Given the description of an element on the screen output the (x, y) to click on. 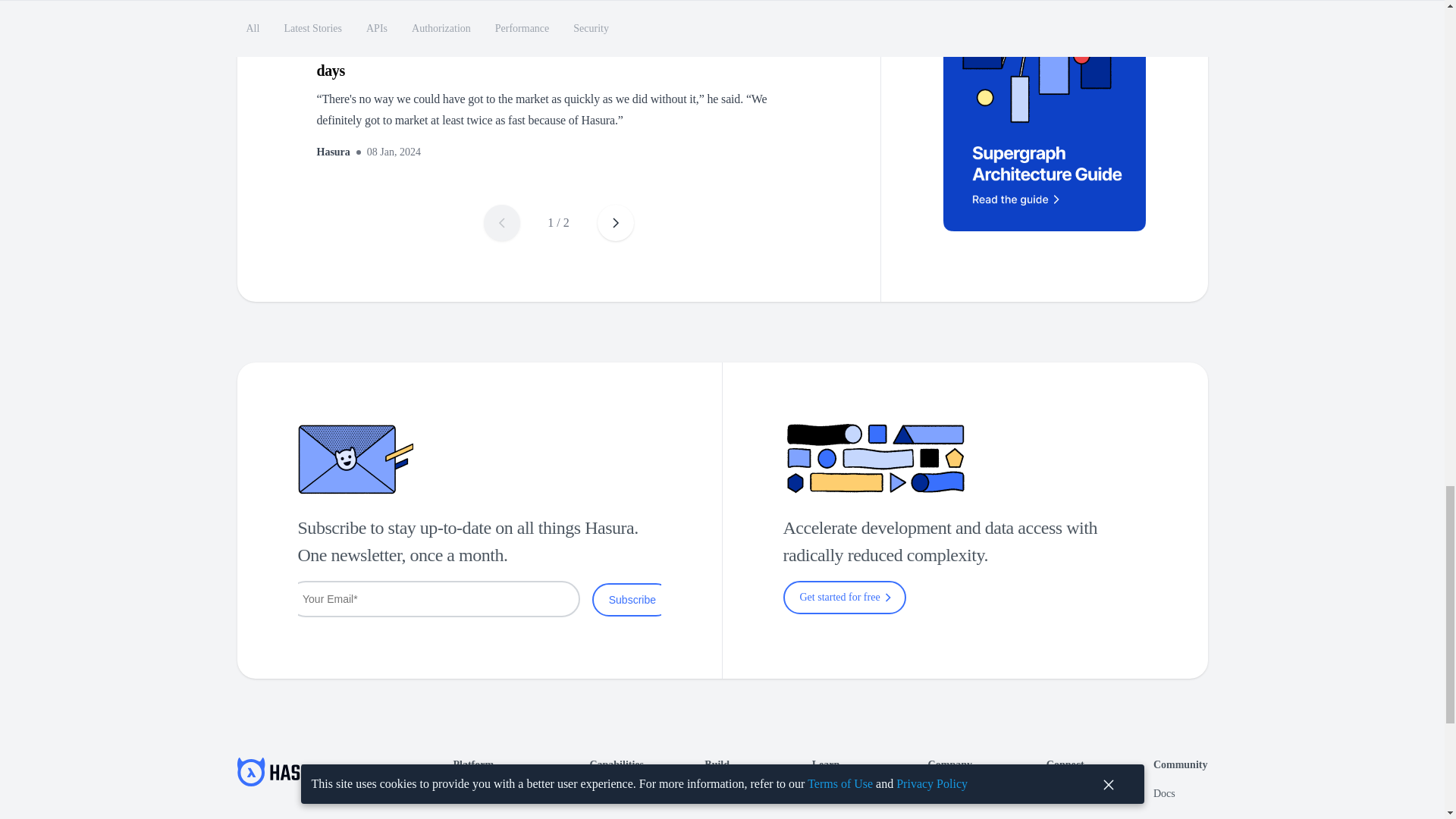
Embedded form (479, 599)
